Given the description of an element on the screen output the (x, y) to click on. 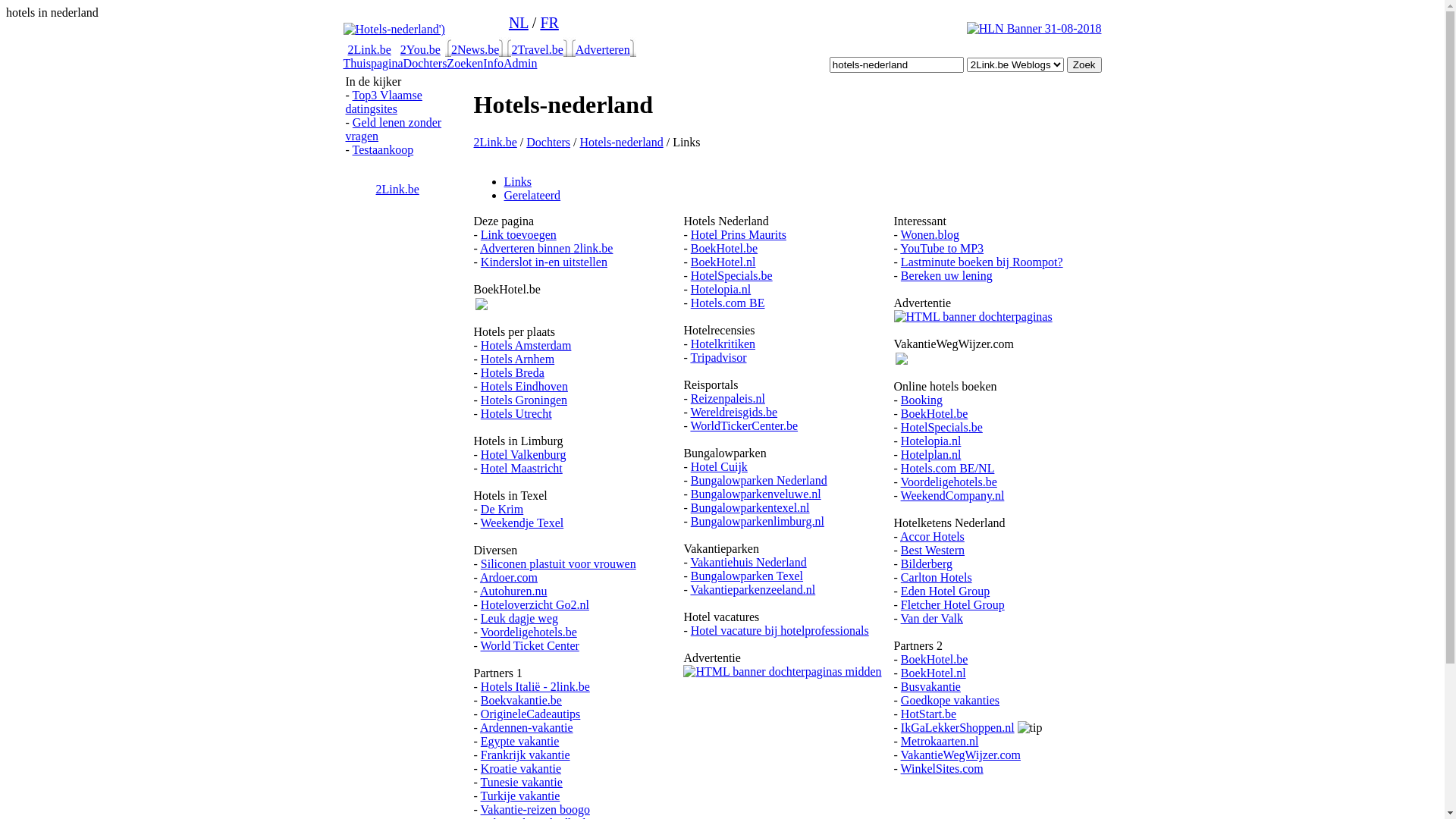
2Link.be Element type: text (397, 188)
YouTube to MP3 Element type: text (941, 247)
Bungalowparken Nederland Element type: text (758, 479)
Voordeligehotels.be Element type: text (948, 481)
Kinderslot in-en uitstellen Element type: text (543, 261)
BoekHotel.nl Element type: text (933, 672)
Link toevoegen Element type: text (518, 234)
De Krim Element type: text (501, 508)
Hotels.com BE Element type: text (727, 302)
Voordeligehotels.be Element type: text (528, 631)
Hotel Valkenburg Element type: text (523, 454)
Zoek Element type: text (1083, 64)
Links Element type: text (516, 181)
Tripadvisor Element type: text (718, 357)
2Link.be Element type: text (494, 141)
IkGaLekkerShoppen.nl Element type: text (957, 727)
Adverteren binnen 2link.be Element type: text (546, 247)
Dochters Element type: text (425, 62)
Bungalowparkenveluwe.nl Element type: text (755, 493)
Adverteren Element type: text (602, 49)
Leuk dagje weg Element type: text (519, 617)
2Link.be Element type: text (368, 49)
Thuispagina Element type: text (372, 62)
Vakantie-reizen boogo Element type: text (534, 809)
Metrokaarten.nl Element type: text (939, 740)
HotStart.be Element type: text (928, 713)
Testaankoop Element type: text (383, 149)
Gerelateerd Element type: text (531, 194)
Bereken uw lening Element type: text (946, 275)
HotelSpecials.be Element type: text (941, 426)
BoekHotel.be Element type: text (933, 658)
Hotel vacature bij hotelprofessionals Element type: text (779, 630)
BoekHotel.be Element type: text (723, 247)
Kroatie vakantie Element type: text (520, 768)
Hotels Groningen Element type: text (523, 399)
FR Element type: text (548, 22)
Reizenpaleis.nl Element type: text (727, 398)
BoekHotel.nl Element type: text (723, 261)
Hotels Arnhem Element type: text (517, 358)
Hotel Prins Maurits Element type: text (738, 234)
NL Element type: text (518, 22)
2Travel.be Element type: text (536, 49)
VakantieWegWijzer.com Element type: text (960, 754)
Autohuren.nu Element type: text (513, 590)
WeekendCompany.nl Element type: text (952, 495)
Dochters Element type: text (548, 141)
Ardennen-vakantie Element type: text (526, 727)
2You.be Element type: text (420, 49)
Vakantiehuis Nederland Element type: text (748, 561)
Zoeken Element type: text (464, 62)
Busvakantie Element type: text (930, 686)
Egypte vakantie Element type: text (519, 740)
Tunesie vakantie Element type: text (521, 781)
Hotelopia.nl Element type: text (930, 440)
Hotelopia.nl Element type: text (720, 288)
Goedkope vakanties Element type: text (949, 699)
Accor Hotels Element type: text (932, 536)
Top3 Vlaamse datingsites Element type: text (383, 101)
Hotels Amsterdam Element type: text (525, 344)
WinkelSites.com Element type: text (941, 768)
Geld lenen zonder vragen Element type: text (393, 129)
OrigineleCadeautips Element type: text (530, 713)
Van der Valk Element type: text (931, 617)
Hotel Cuijk Element type: text (718, 466)
Wonen.blog Element type: text (929, 234)
Hotels Breda Element type: text (512, 372)
Booking Element type: text (921, 399)
Hotelplan.nl Element type: text (930, 454)
Info Element type: text (493, 62)
Hotels-nederland Element type: text (620, 141)
Hoteloverzicht Go2.nl Element type: text (534, 604)
Bungalowparken Texel Element type: text (746, 575)
Hotels Utrecht Element type: text (516, 413)
Admin Element type: text (519, 62)
Frankrijk vakantie Element type: text (525, 754)
World Ticket Center Element type: text (529, 645)
Wereldreisgids.be Element type: text (733, 411)
Turkije vakantie Element type: text (520, 795)
Weekendje Texel Element type: text (522, 522)
Siliconen plastuit voor vrouwen Element type: text (558, 563)
Bilderberg Element type: text (926, 563)
2News.be Element type: text (475, 49)
WorldTickerCenter.be Element type: text (743, 425)
Hotel Maastricht Element type: text (521, 467)
HotelSpecials.be Element type: text (731, 275)
Eden Hotel Group Element type: text (944, 590)
Hotels Eindhoven Element type: text (523, 385)
Best Western Element type: text (932, 549)
Bungalowparkenlimburg.nl Element type: text (757, 520)
Boekvakantie.be Element type: text (520, 699)
Hotels.com BE/NL Element type: text (947, 467)
Fletcher Hotel Group Element type: text (952, 604)
Carlton Hotels Element type: text (936, 577)
BoekHotel.be Element type: text (933, 413)
Hotelkritiken Element type: text (722, 343)
Bungalowparkentexel.nl Element type: text (749, 507)
Vakantieparkenzeeland.nl Element type: text (752, 589)
Lastminute boeken bij Roompot? Element type: text (981, 261)
Ardoer.com Element type: text (508, 577)
